Given the description of an element on the screen output the (x, y) to click on. 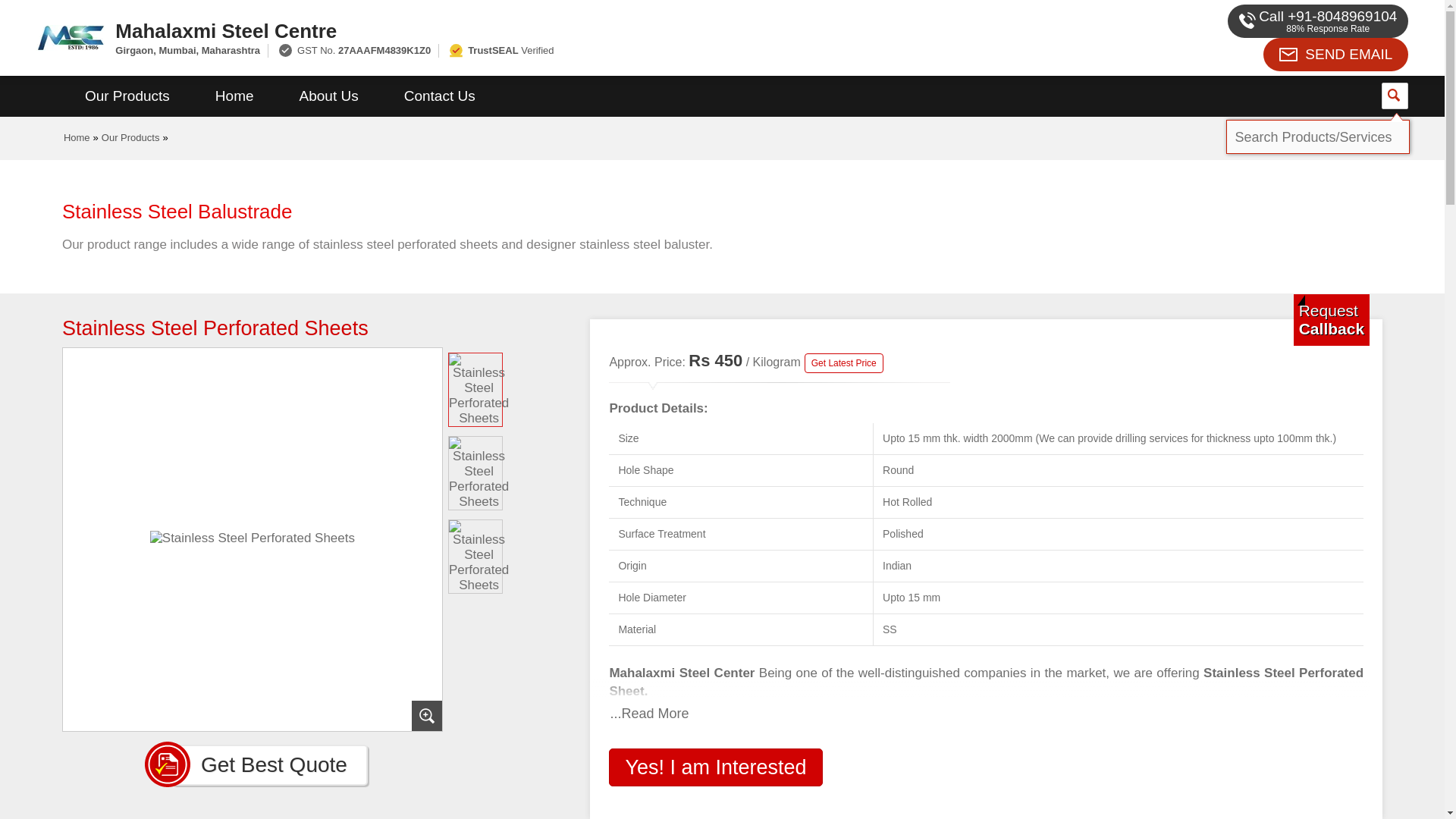
Mahalaxmi Steel Centre (552, 31)
Our Products (127, 96)
Get a Call from us (1332, 319)
